Given the description of an element on the screen output the (x, y) to click on. 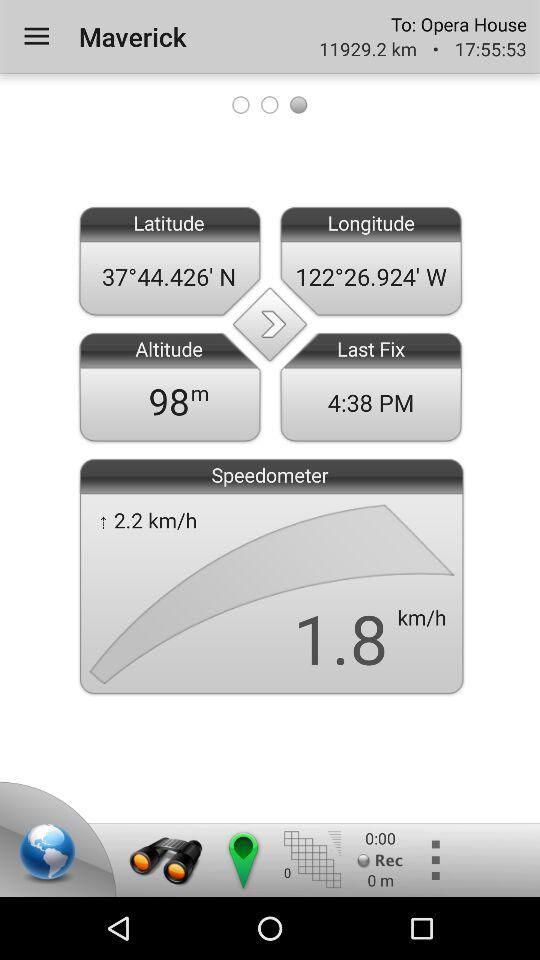
launch the item to the left of maverick (36, 36)
